Given the description of an element on the screen output the (x, y) to click on. 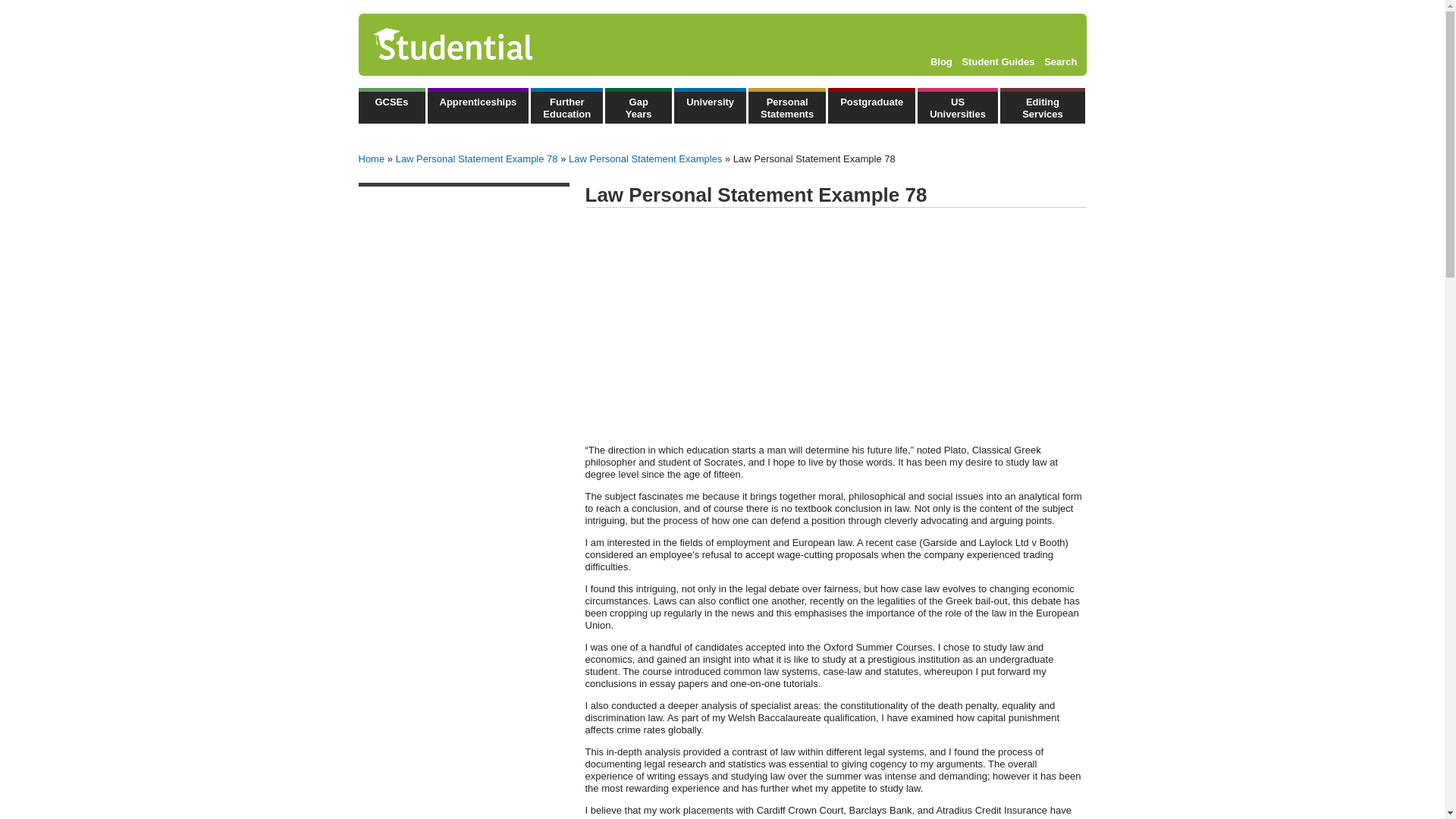
Studential.com (484, 44)
Editing Services (1042, 105)
Search (1060, 61)
Apprenticeships (478, 105)
Gap Years (638, 105)
Postgraduate Options (871, 105)
Apprenticeships (478, 105)
Student Guides (996, 61)
Further education (566, 105)
